Given the description of an element on the screen output the (x, y) to click on. 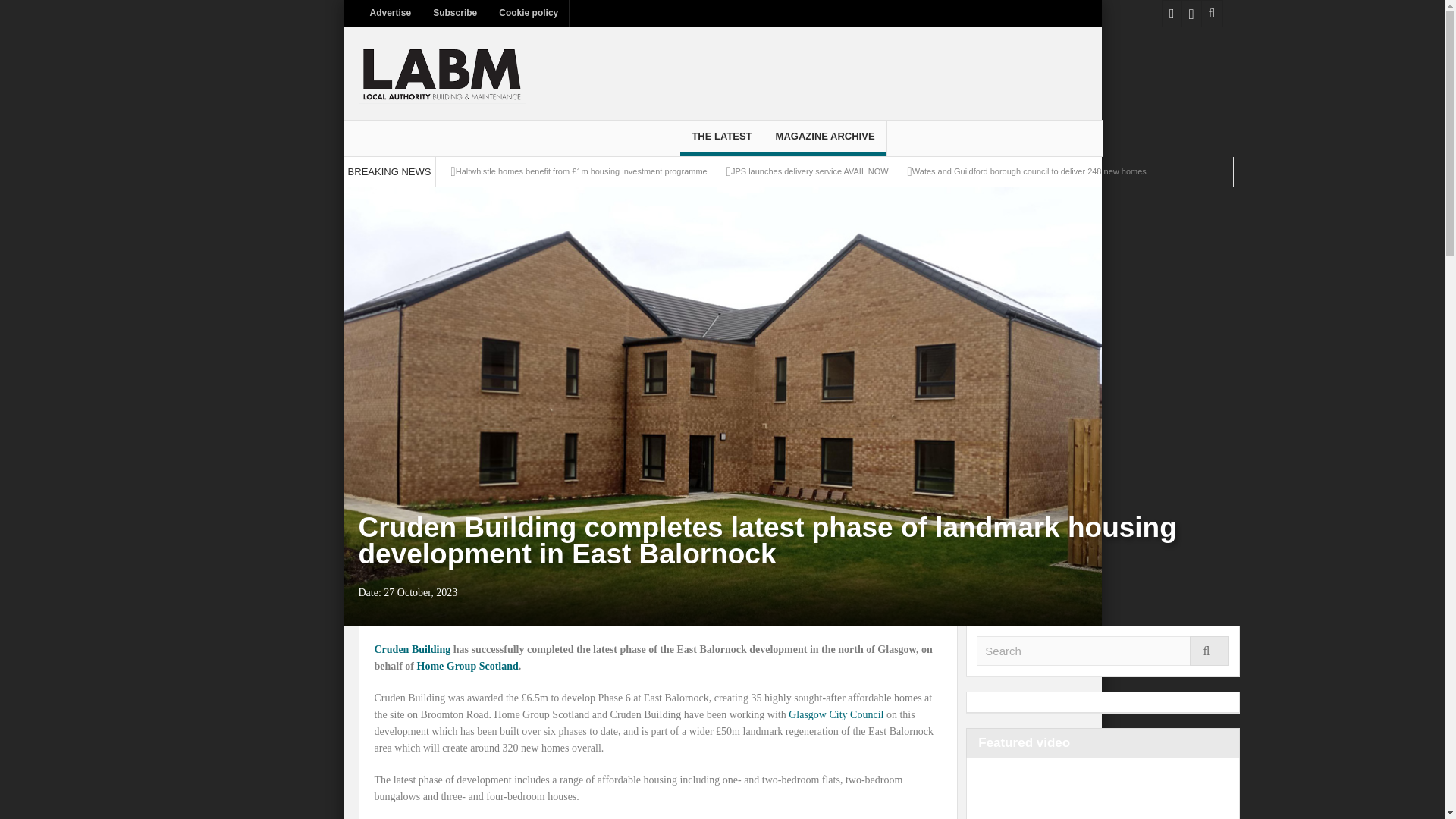
Advertise (390, 13)
labm (441, 72)
Search for: (1102, 650)
Wates and Guildford borough council to deliver 248 new homes (1029, 171)
JPS launches delivery service AVAIL NOW (809, 171)
YouTube video player (1090, 793)
Cruden Building (412, 649)
Cookie policy (528, 13)
Home Group Scotland (467, 665)
Subscribe (454, 13)
